Given the description of an element on the screen output the (x, y) to click on. 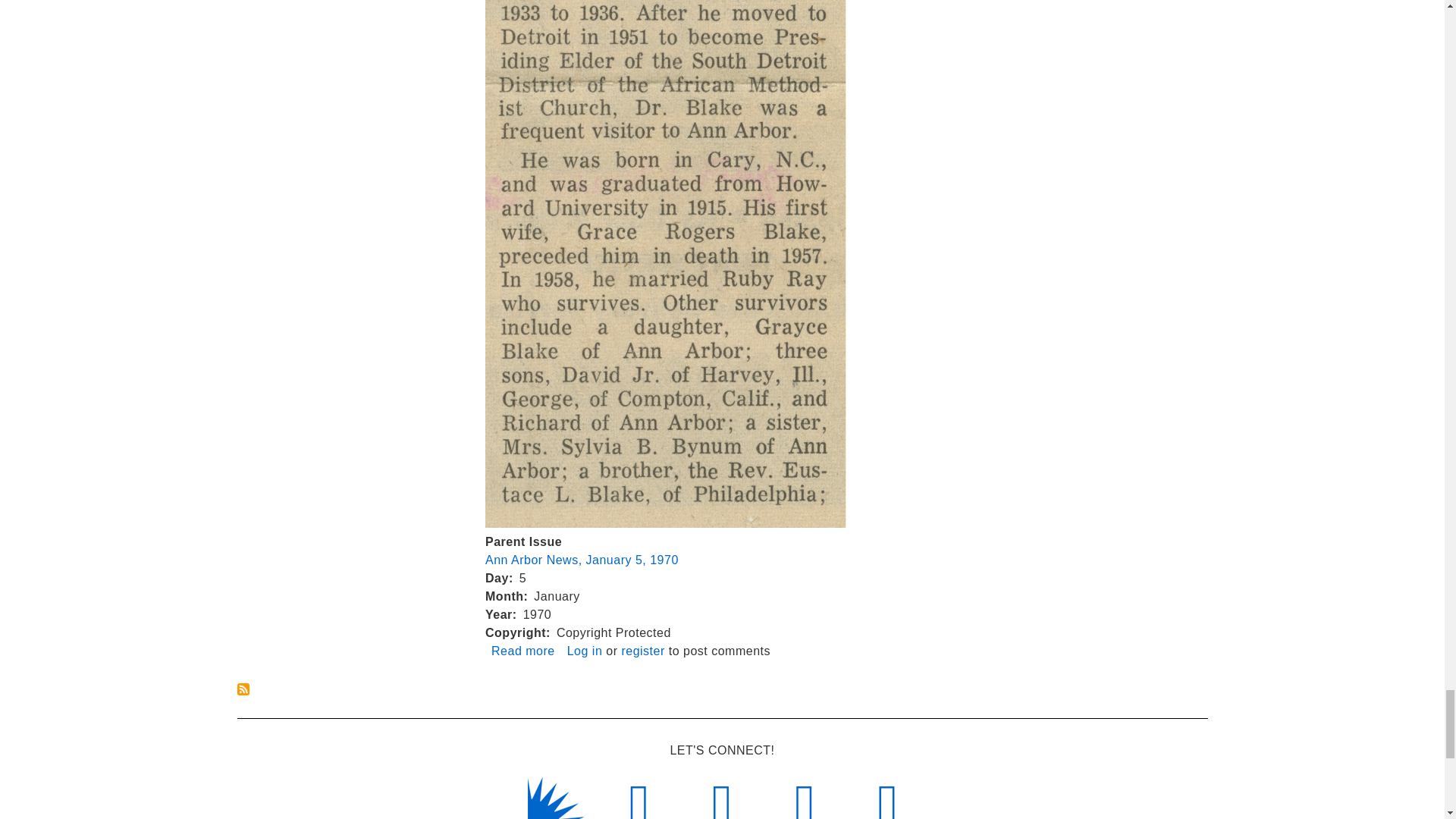
Log in (523, 650)
Subscribe to Grace Rogers Blake (584, 650)
Ann Arbor News, January 5, 1970 (241, 689)
register (581, 559)
Rev. David Blake Succumbs At 82 (642, 650)
